Given the description of an element on the screen output the (x, y) to click on. 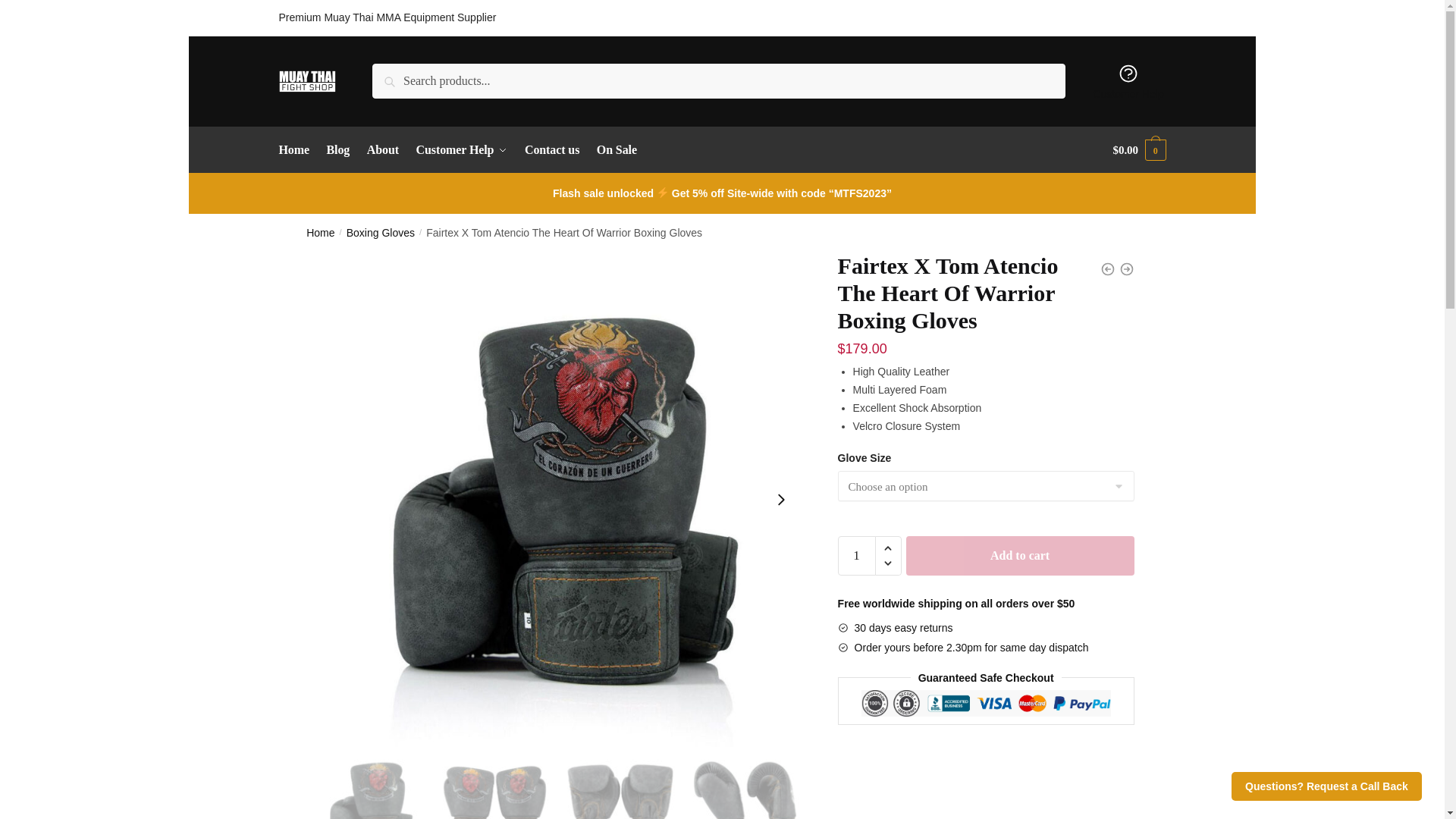
Fairtex X Tom Atencio Heart of Warrior Boxing Gloves Bag (619, 782)
Fairtex X Tom Atencio Heart of Warrior Boxing Gloves Bag (494, 782)
Fairtex X Tom Atencio Heart of Warrior Boxing Gloves Bag (746, 782)
View your shopping cart (1139, 149)
Home (319, 232)
1 (857, 555)
On Sale (616, 149)
About (382, 149)
Search (393, 74)
Boxing Gloves (380, 232)
EMAIL US (1141, 17)
Customer Help (461, 149)
Fairtex X Tom Atencio Heart of Warrior Boxing Gloves Bag (369, 782)
Contact us (552, 149)
